Given the description of an element on the screen output the (x, y) to click on. 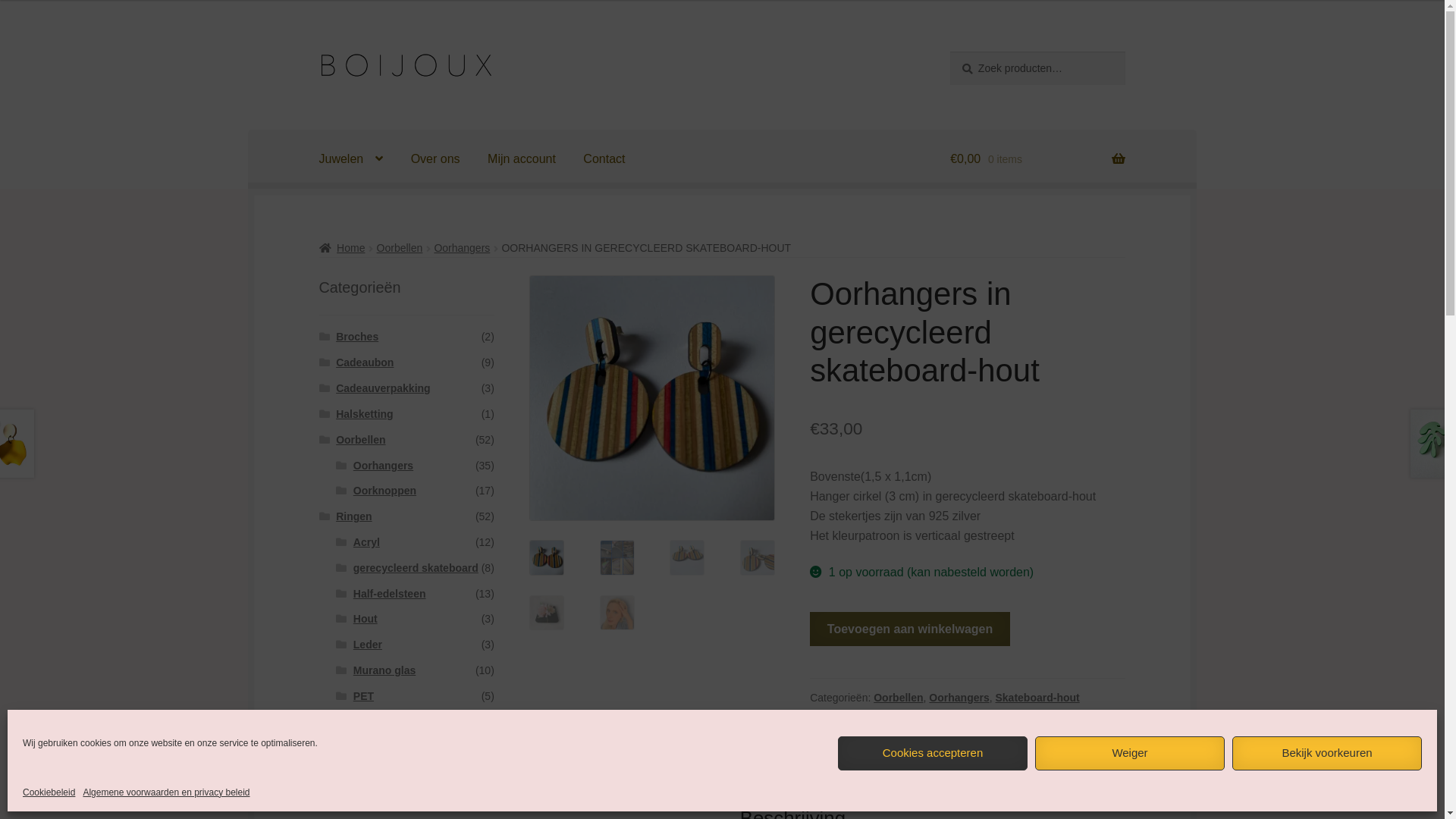
Oorhangers Element type: text (383, 465)
Cadeaubon Element type: text (364, 362)
skateboard Element type: hover (897, 397)
Acryl Element type: text (366, 542)
Skip to navigation Element type: text (318, 50)
IMG_6088 Element type: hover (652, 397)
trendy Element type: text (1078, 715)
Oorhangers Element type: text (461, 247)
Over ons Element type: text (435, 158)
Juwelen Element type: text (351, 158)
Zoeken Element type: text (949, 50)
Weiger Element type: text (1129, 753)
Mijn account Element type: text (521, 158)
Murano glas Element type: text (384, 670)
Oorbellen Element type: text (897, 697)
Skateboard-hout Element type: text (377, 721)
Half-edelsteen Element type: text (389, 593)
Oorhangers Element type: text (958, 697)
Oorbellen Element type: text (360, 439)
Hout Element type: text (365, 618)
Leder Element type: text (367, 644)
oorhangers Element type: text (964, 715)
Halsketting Element type: text (363, 413)
Cookies accepteren Element type: text (932, 753)
skateboard Element type: text (1028, 715)
Home Element type: text (342, 247)
gerecycleerd hout Element type: text (884, 715)
Bekijk voorkeuren Element type: text (1326, 753)
Skateboard-hout Element type: text (1036, 697)
Cadeauverpakking Element type: text (382, 388)
Oorknoppen Element type: text (384, 490)
Contact Element type: text (604, 158)
Toevoegen aan winkelwagen Element type: text (909, 628)
Cookiebeleid Element type: text (48, 792)
Algemene voorwaarden en privacy beleid Element type: text (165, 792)
gerecycleerd skateboard Element type: text (415, 567)
Ringen Element type: text (353, 516)
Oorbellen Element type: text (399, 247)
PET Element type: text (363, 696)
Broches Element type: text (356, 336)
